Given the description of an element on the screen output the (x, y) to click on. 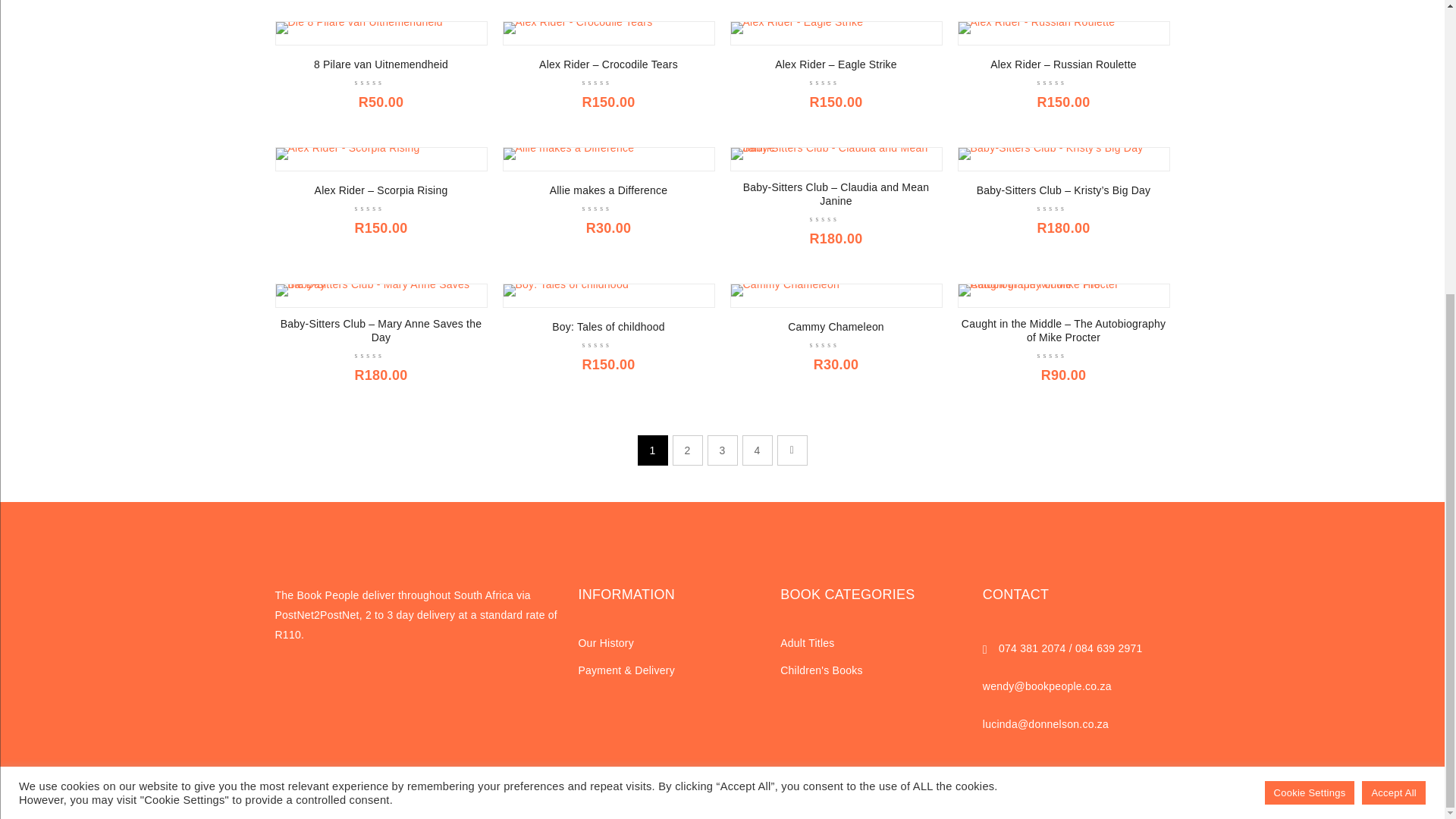
Adult Titles (807, 643)
Children's Books (821, 670)
